Given the description of an element on the screen output the (x, y) to click on. 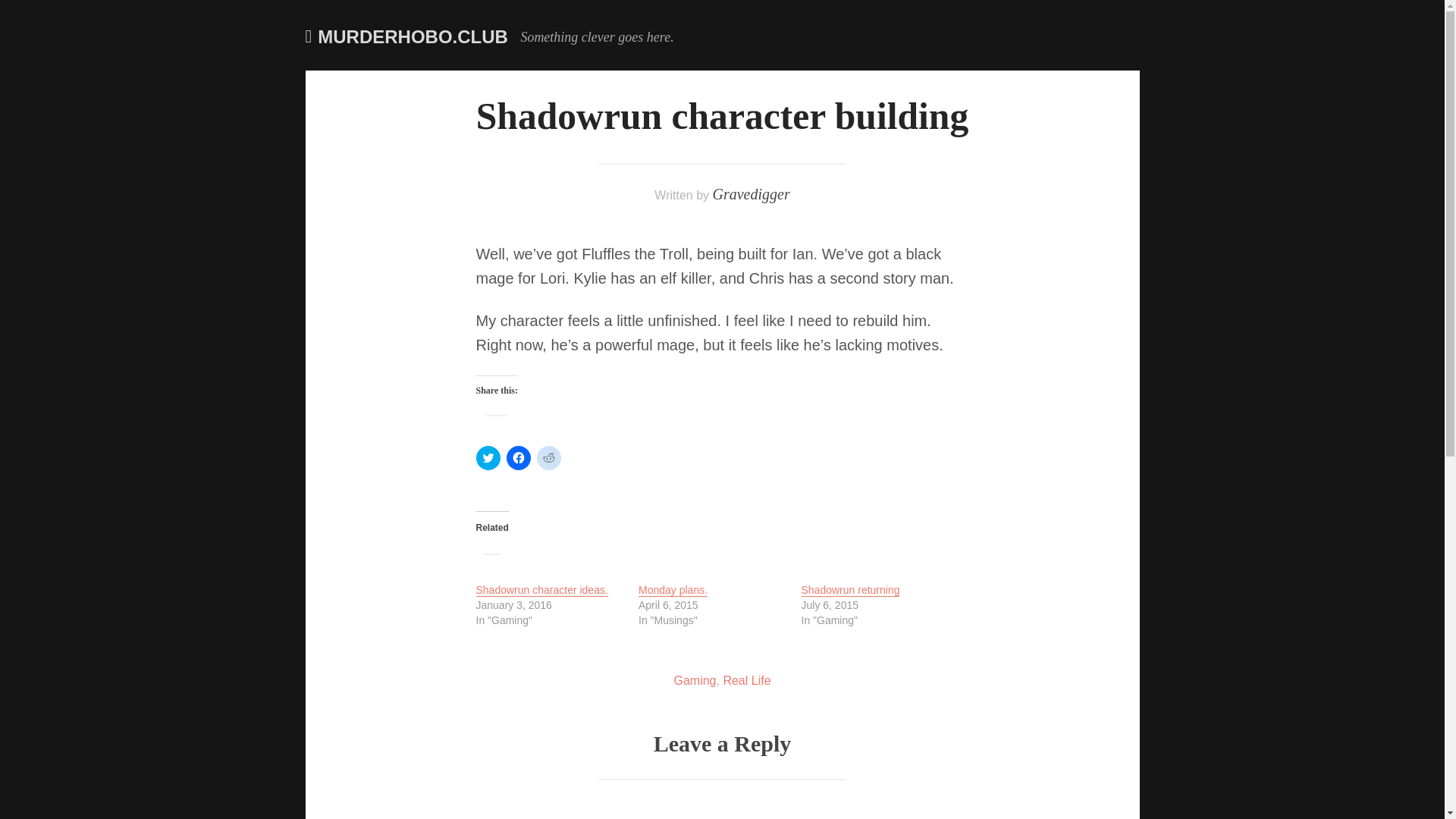
Shadowrun character ideas. (542, 590)
Real Life (746, 680)
Monday plans. (673, 590)
Monday plans. (673, 590)
Gravedigger (750, 193)
Shadowrun character ideas. (542, 590)
Gaming (694, 680)
Shadowrun returning (849, 590)
Click to share on Twitter (488, 457)
Click to share on Facebook (518, 457)
Click to share on Reddit (548, 457)
Posts by Gravedigger (750, 193)
Shadowrun returning (849, 590)
MURDERHOBO.CLUB (412, 36)
